Given the description of an element on the screen output the (x, y) to click on. 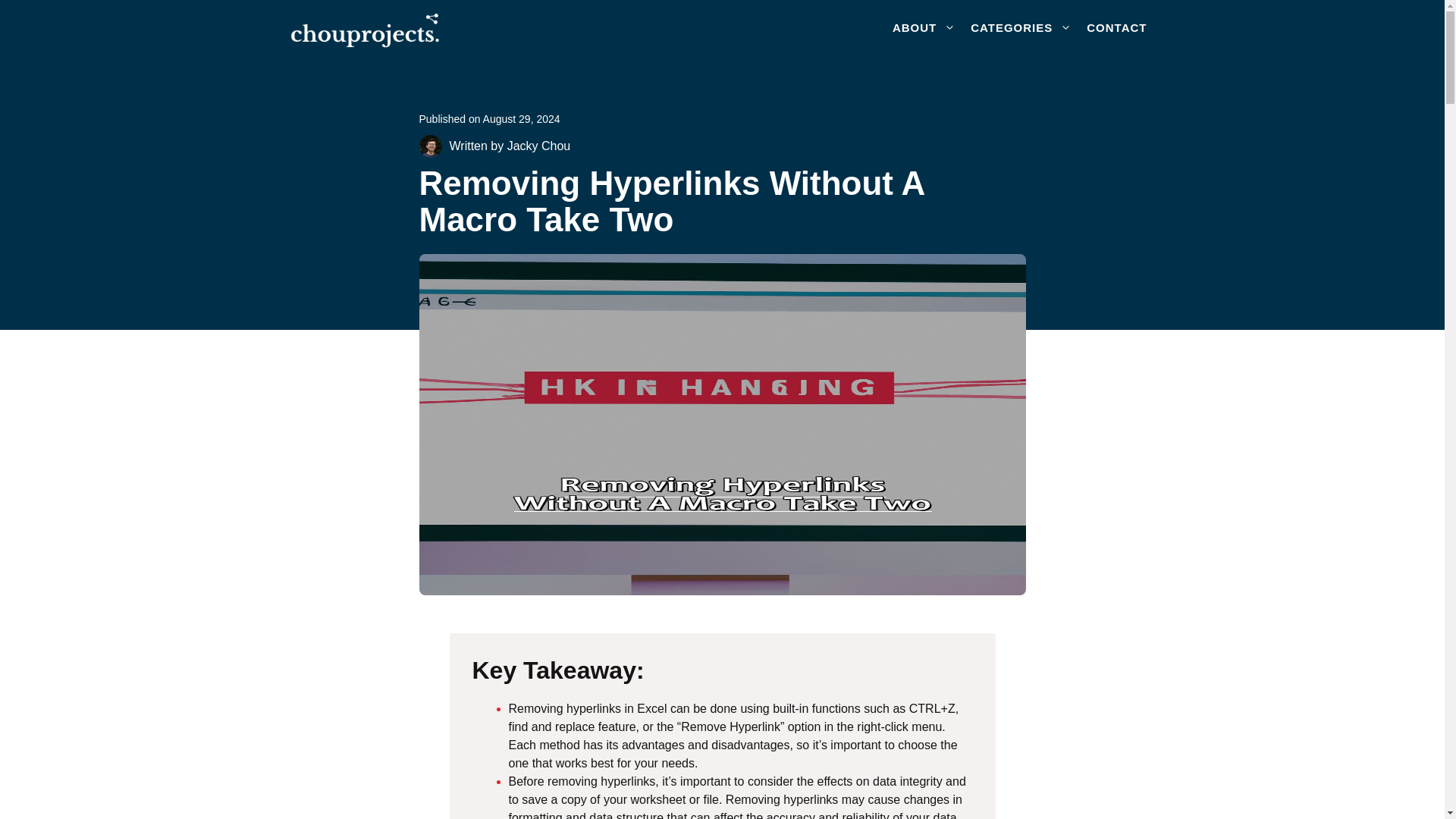
CATEGORIES (1020, 27)
CONTACT (1116, 27)
ABOUT (923, 27)
